Given the description of an element on the screen output the (x, y) to click on. 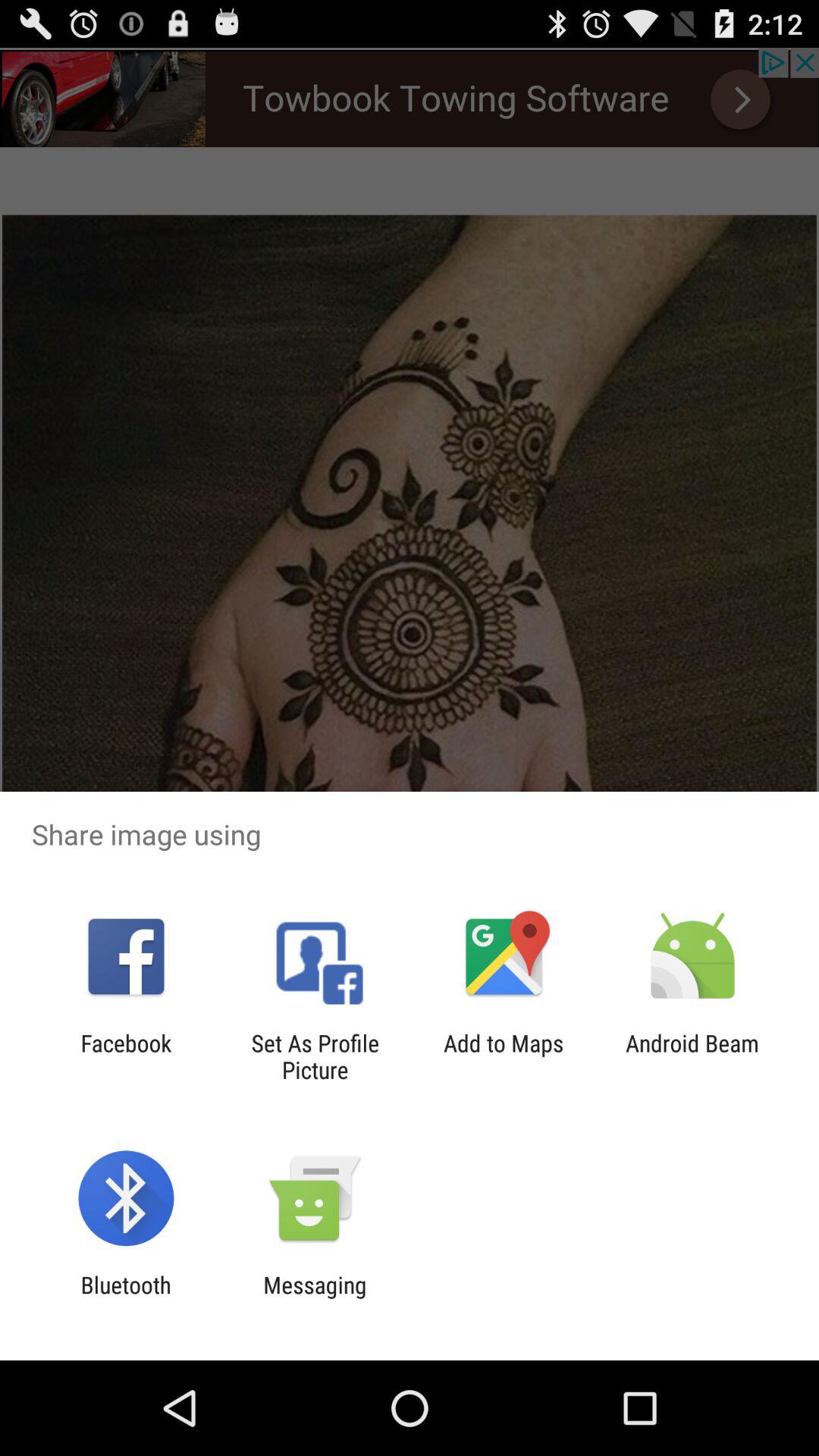
launch the set as profile (314, 1056)
